Given the description of an element on the screen output the (x, y) to click on. 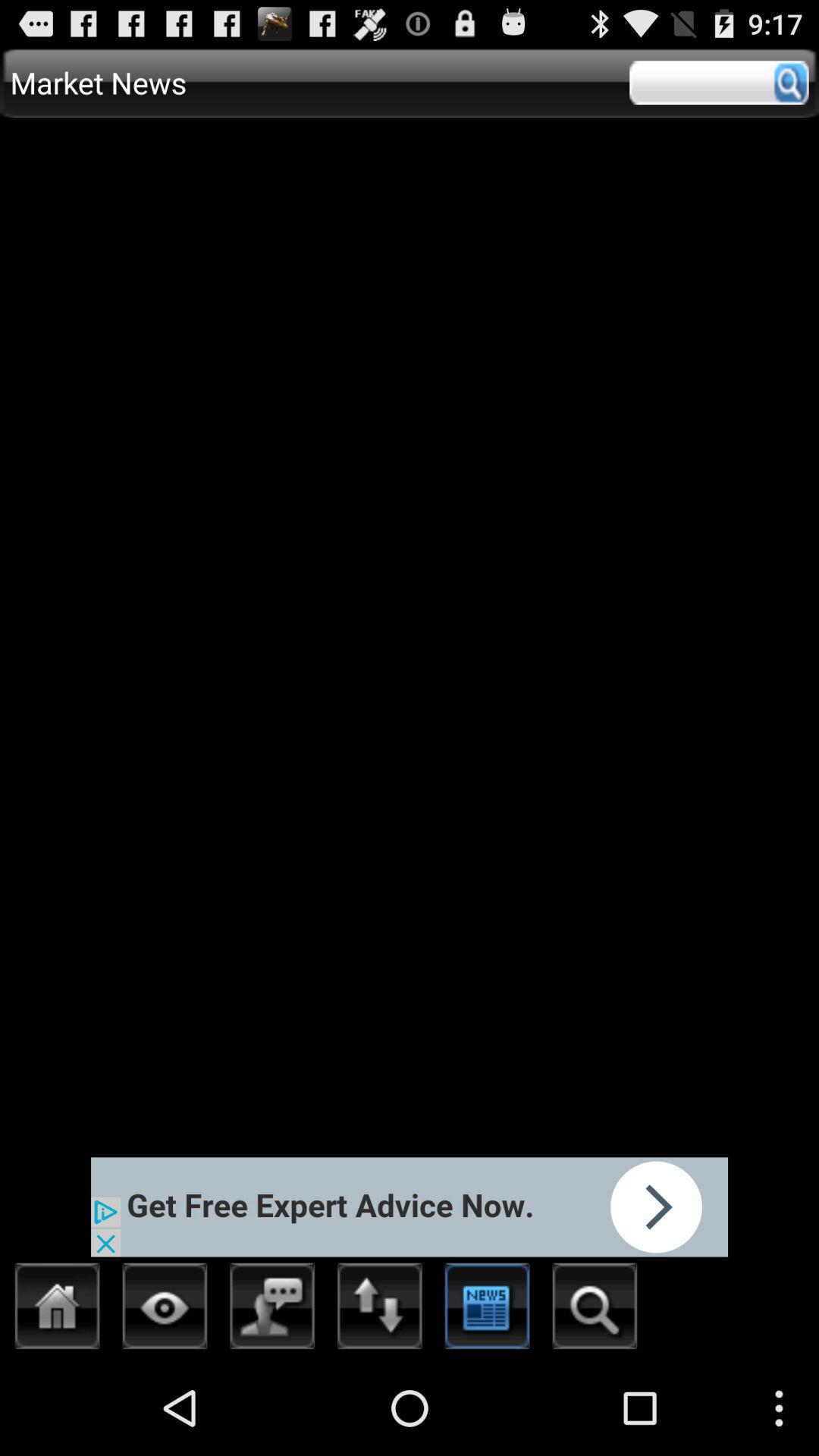
search bar (718, 82)
